Given the description of an element on the screen output the (x, y) to click on. 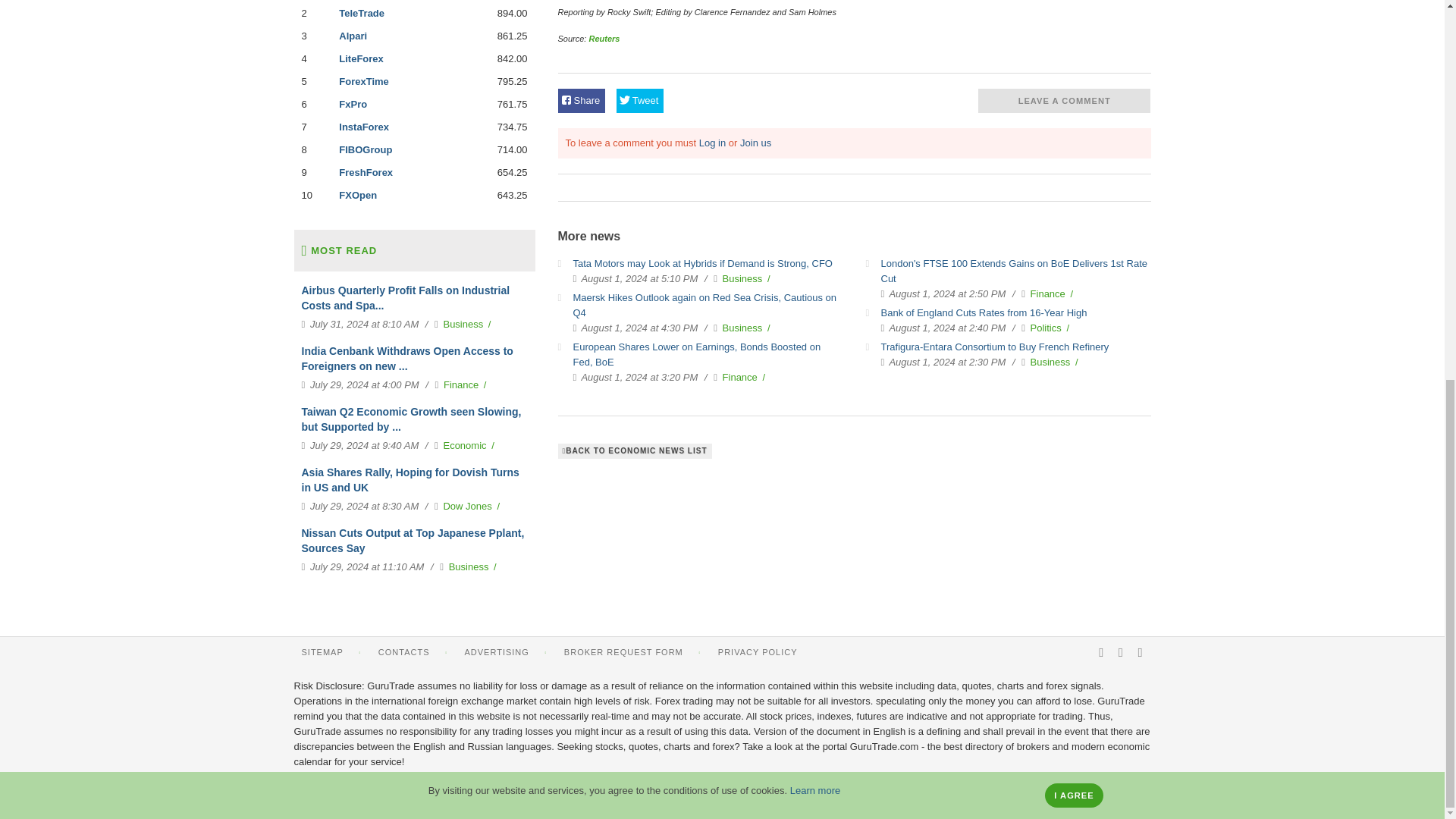
Share on Twitter (639, 100)
Share on Facebook (581, 100)
